Given the description of an element on the screen output the (x, y) to click on. 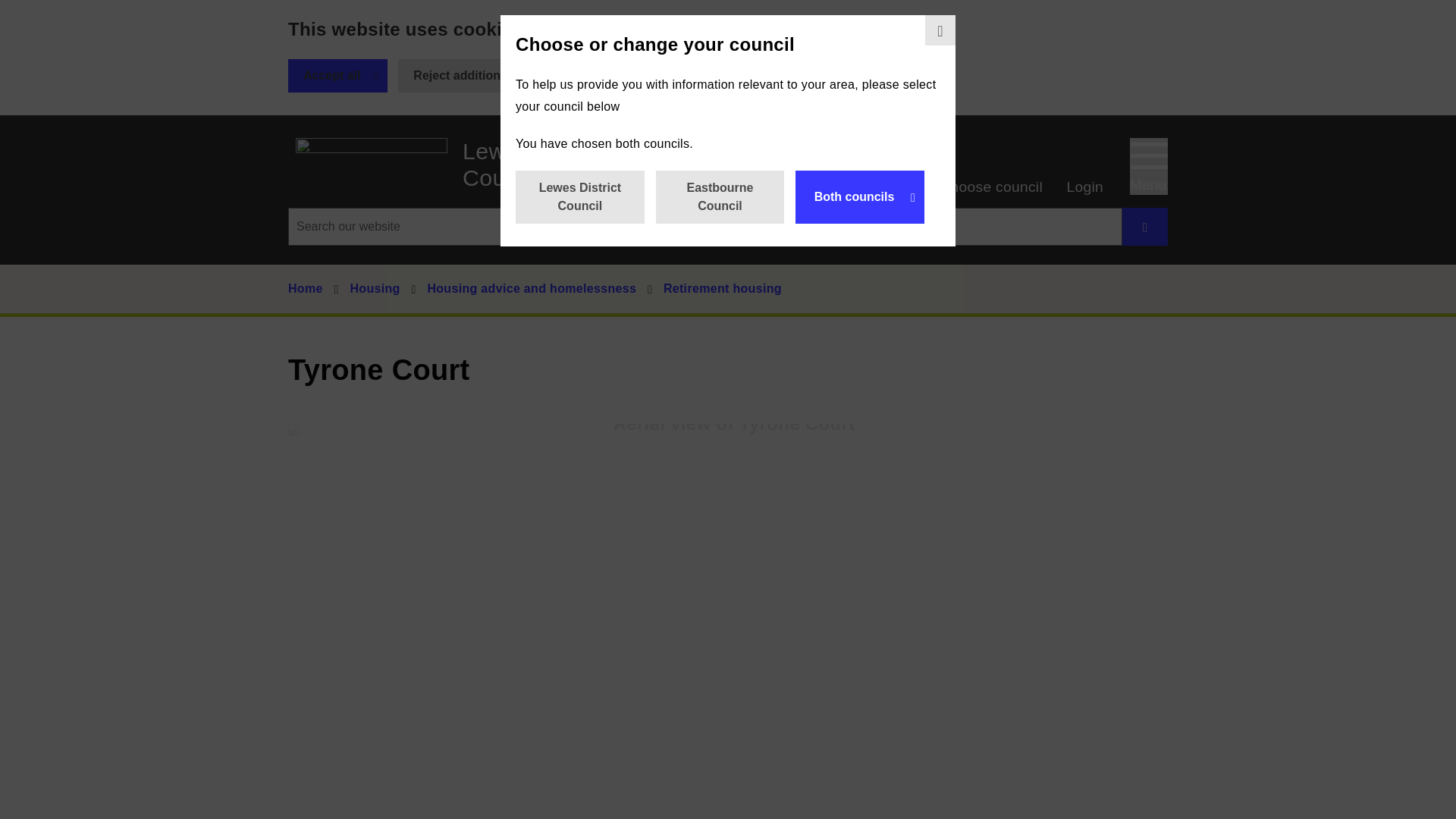
Skip to main content (11, 11)
Lewes District Council (580, 196)
Eastbourne Council (720, 196)
Change cookie preferences (651, 75)
Accept all (337, 75)
Both councils (859, 196)
Reject additional (370, 161)
